Given the description of an element on the screen output the (x, y) to click on. 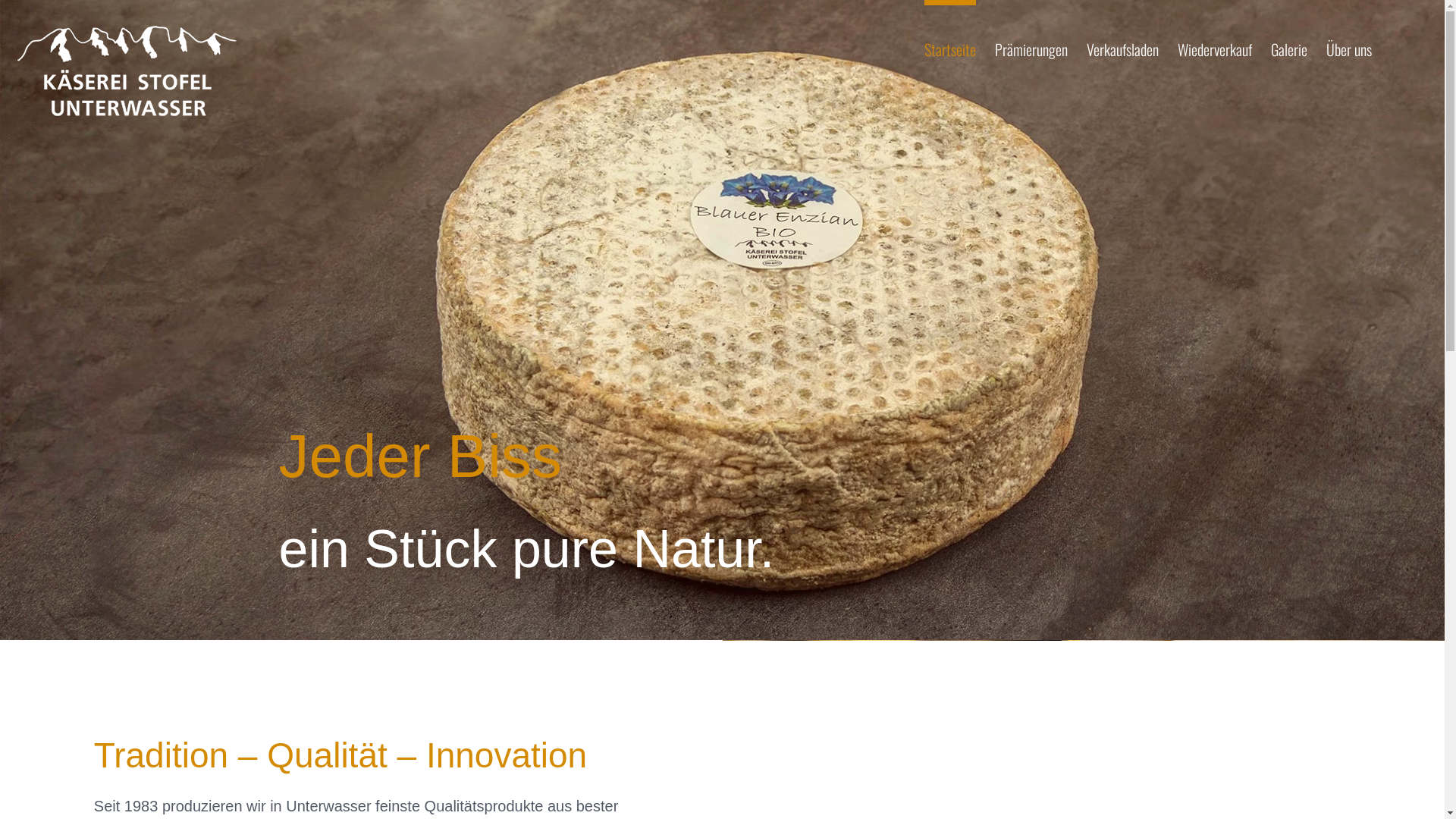
Wiederverkauf Element type: text (1214, 46)
Startseite Element type: text (949, 46)
Galerie Element type: text (1288, 46)
Verkaufsladen Element type: text (1122, 46)
